Given the description of an element on the screen output the (x, y) to click on. 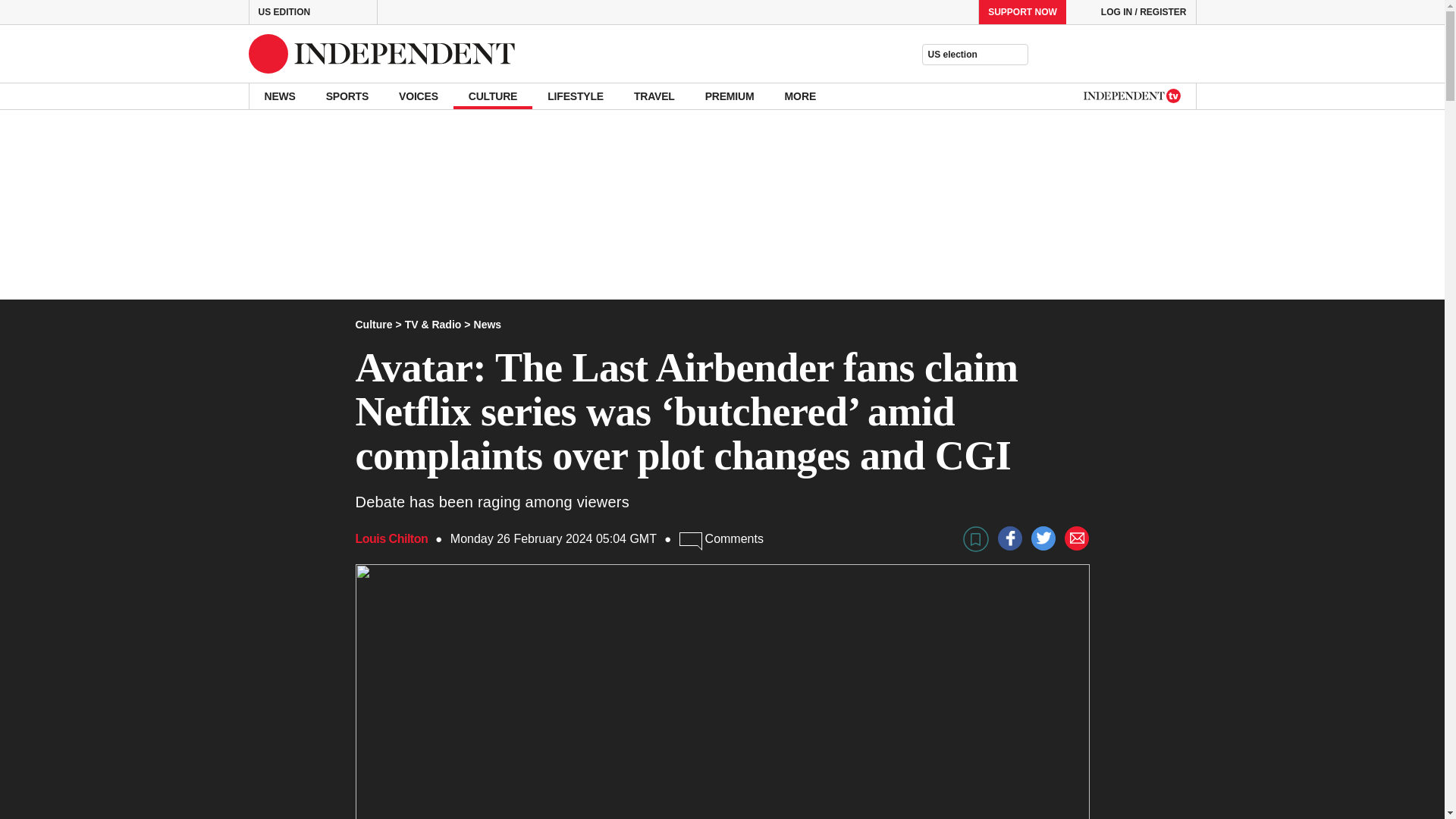
SPORTS (347, 95)
NEWS (279, 95)
bookmark (975, 539)
US election (974, 54)
Independent (381, 53)
SUPPORT NOW (1021, 12)
VOICES (418, 95)
